Given the description of an element on the screen output the (x, y) to click on. 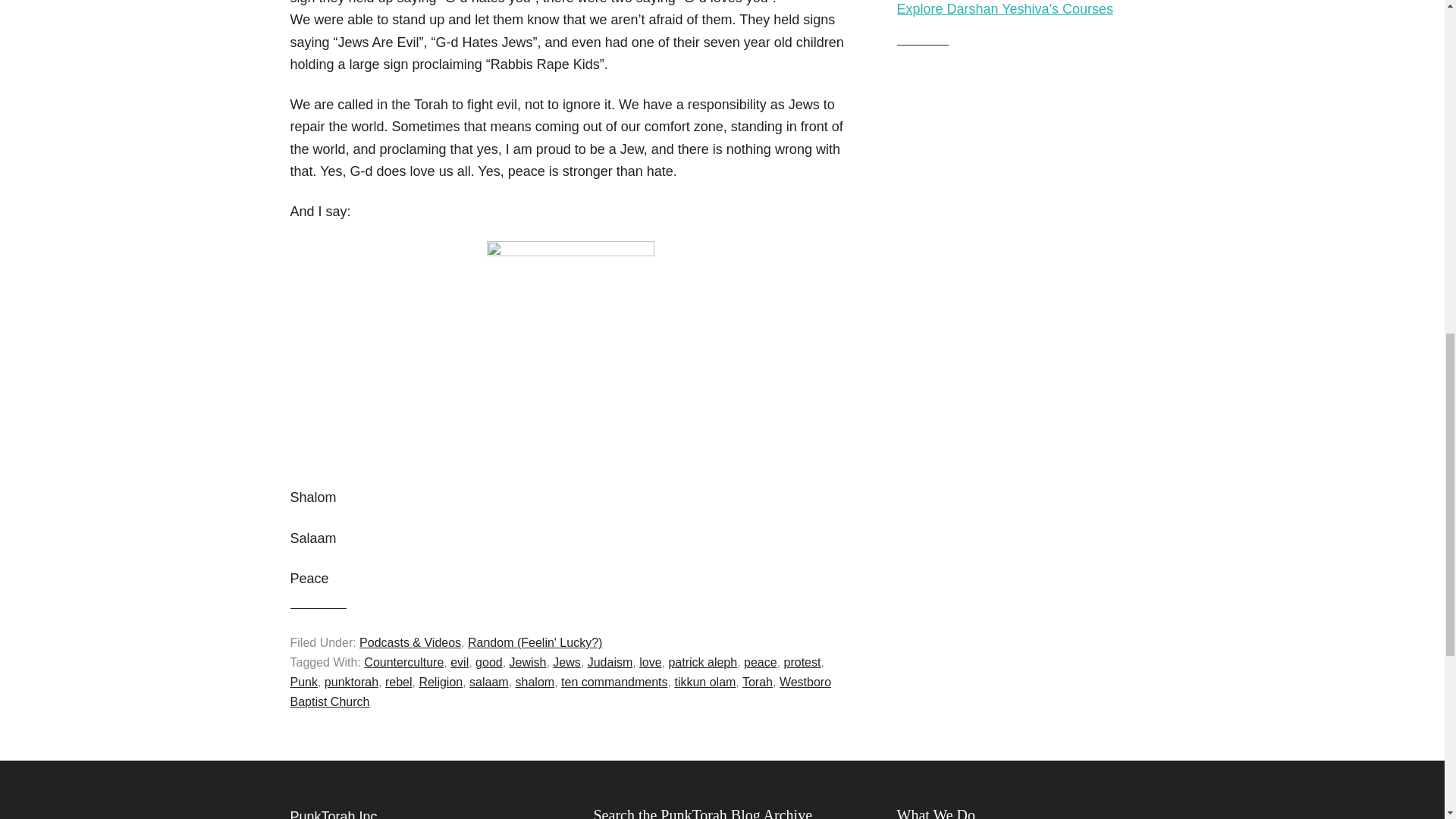
ten commandments (614, 681)
shalom (534, 681)
Westboro Baptist Church (560, 691)
peace (760, 662)
punktorah (351, 681)
tikkun olam (704, 681)
Explore Darshan Yeshiva's Courses (1004, 8)
love (650, 662)
protest (802, 662)
Counterculture (404, 662)
